Given the description of an element on the screen output the (x, y) to click on. 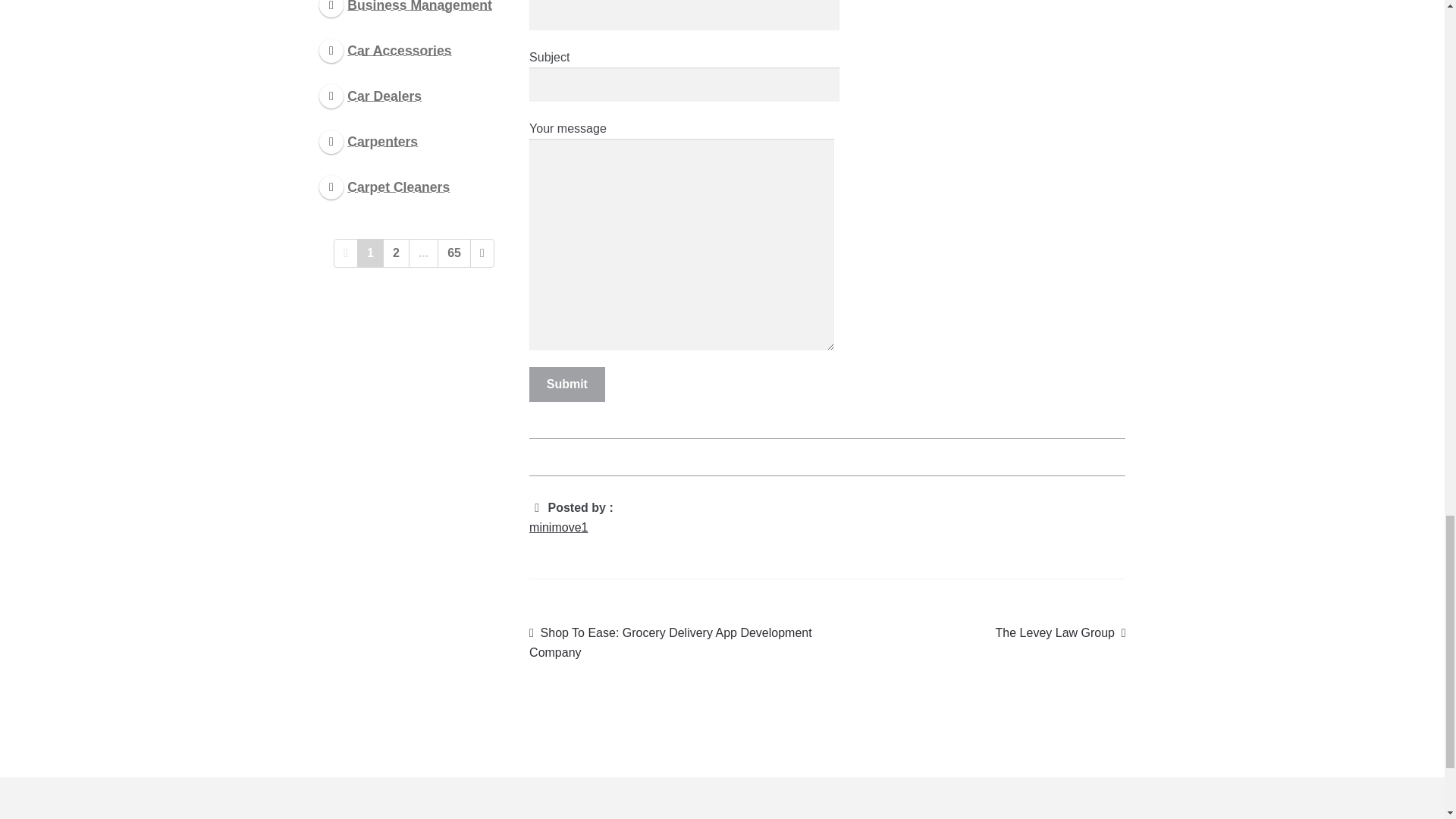
Submit (567, 384)
